Given the description of an element on the screen output the (x, y) to click on. 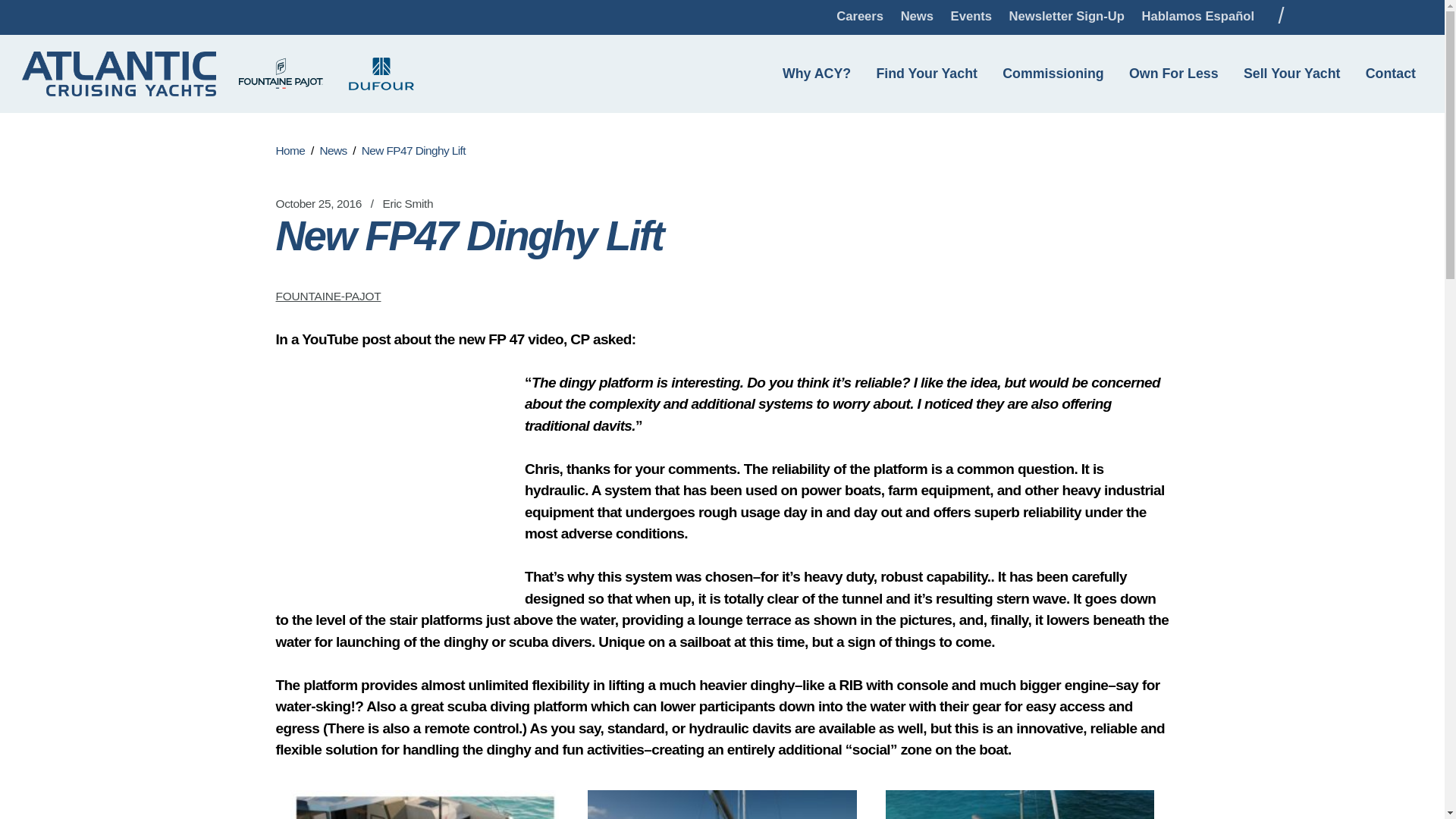
Careers (859, 16)
Find Us On Facebook (1310, 16)
Newsletter Sign-Up (1066, 16)
Find Us On LinkedIn (1409, 16)
Find Us On Instagram (1341, 16)
Watch Us On YouTube (1375, 16)
News (916, 16)
Events (970, 16)
